Given the description of an element on the screen output the (x, y) to click on. 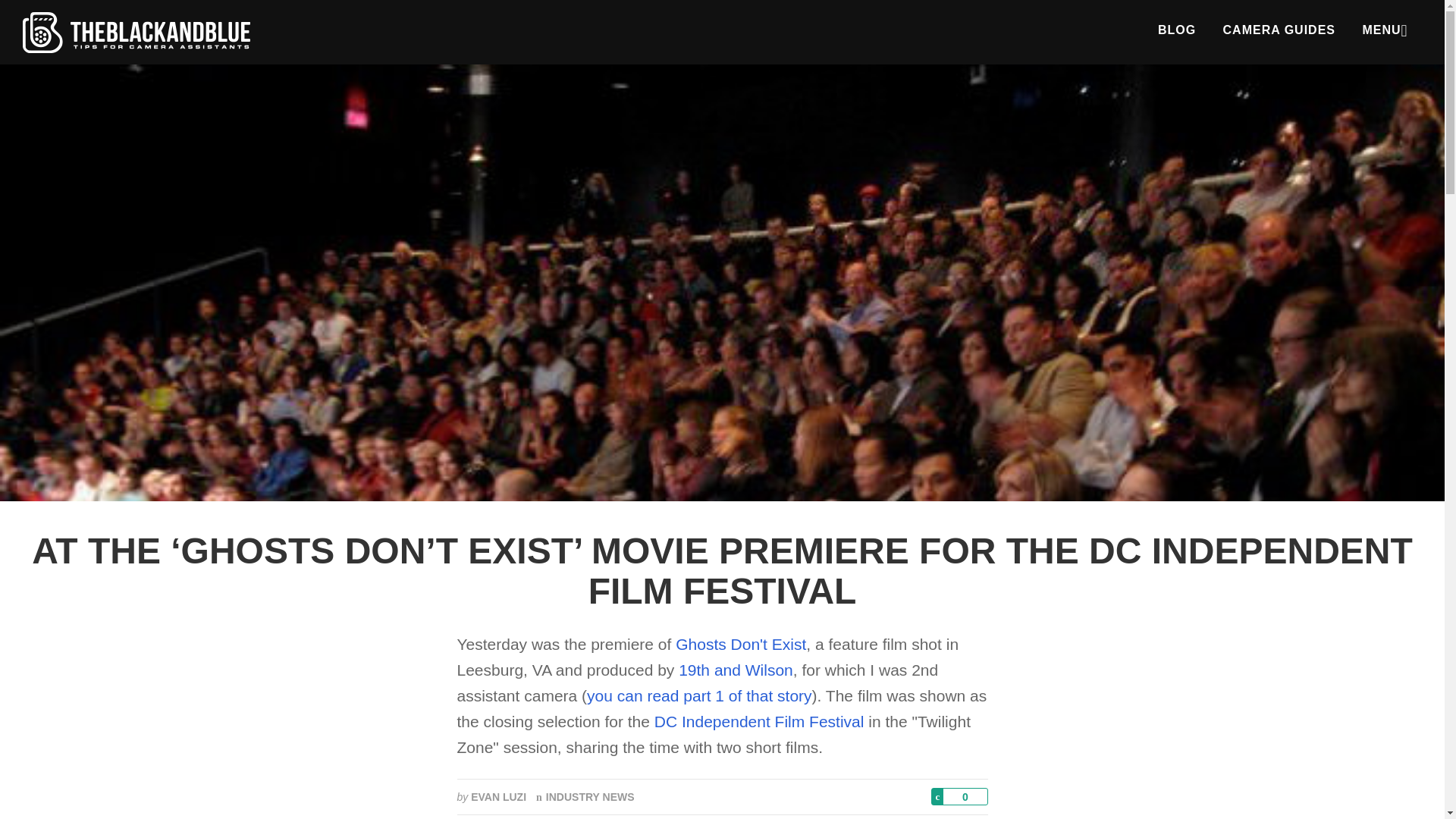
BLOG (1177, 30)
DC Independent Film Festival (758, 721)
you can read part 1 of that story (699, 695)
Ghosts Don't Exist (740, 643)
MENU (1383, 30)
Filmmaking Articles and Blog Posts (1177, 30)
CAMERA GUIDES (1278, 30)
19th and Wilson (735, 669)
0 (959, 796)
THE BLACK AND BLUE (136, 32)
EVAN LUZI (497, 797)
Digital Cinema Camera Pocket Guides (1278, 30)
